Given the description of an element on the screen output the (x, y) to click on. 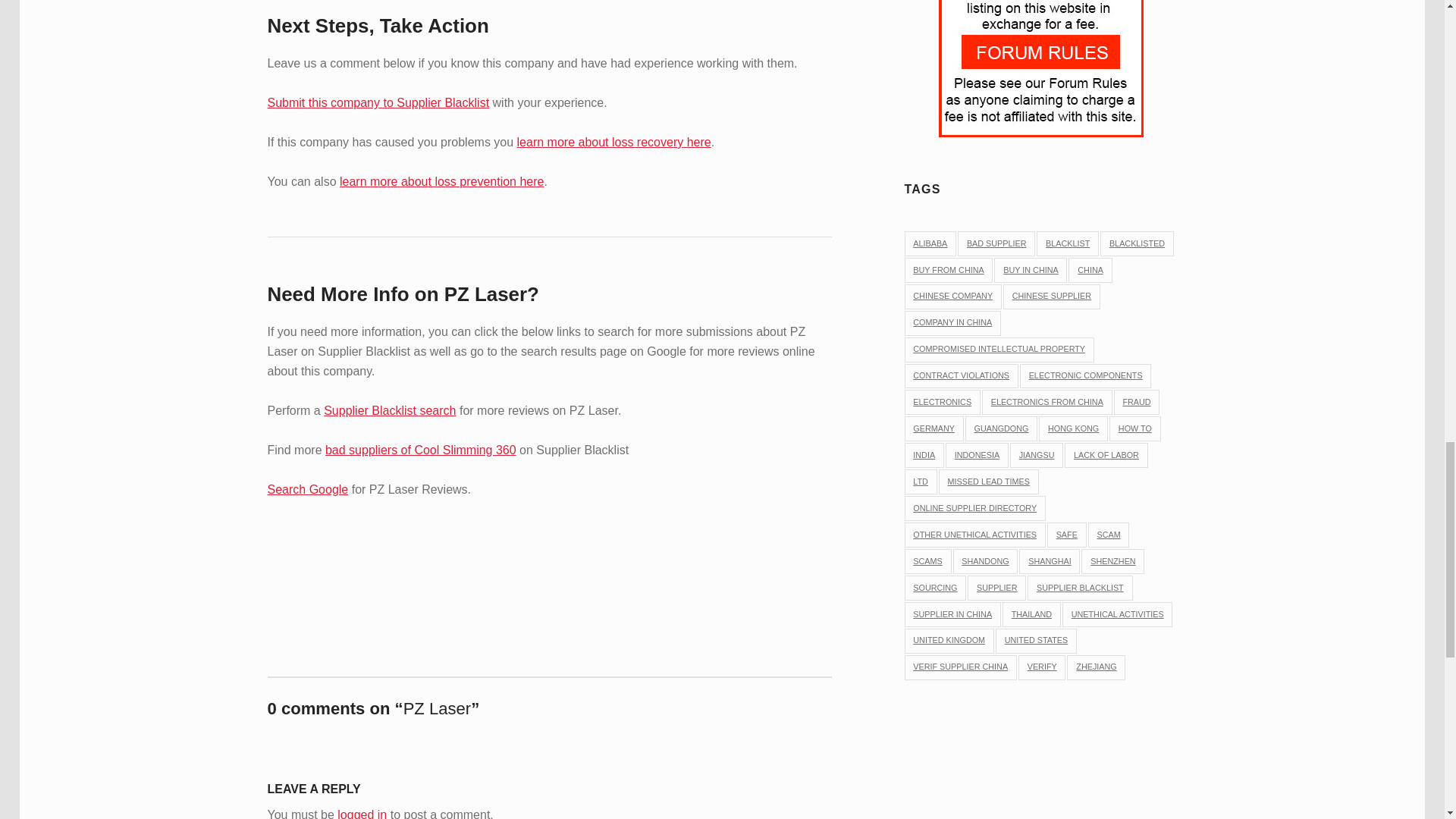
Submit this company to Supplier Blacklist (377, 102)
Search Google (306, 489)
Supplier Blacklist search (389, 410)
bad suppliers of Cool Slimming 360 (420, 449)
learn more about loss prevention here (441, 181)
learn more about loss recovery here (613, 141)
